Given the description of an element on the screen output the (x, y) to click on. 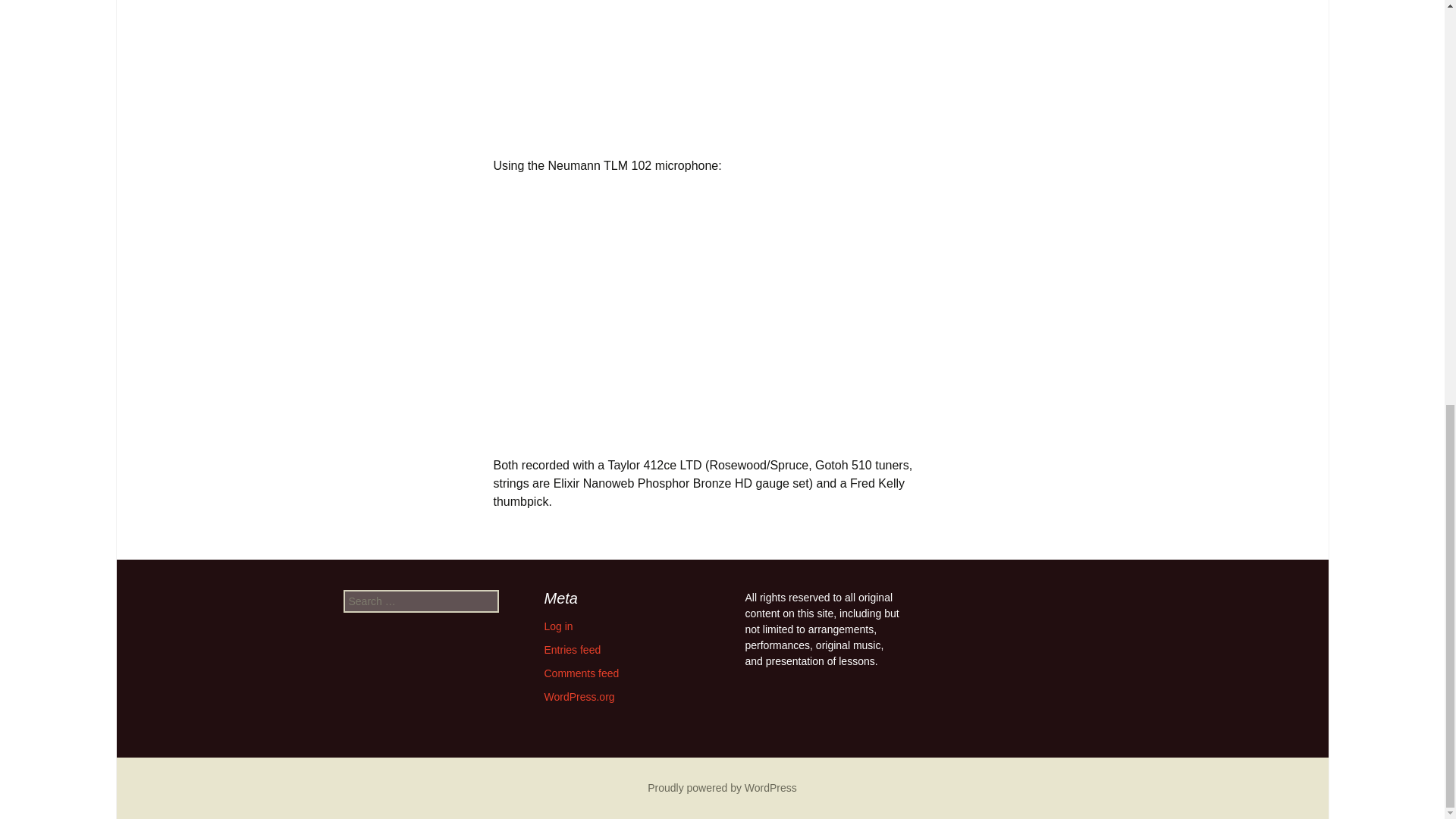
Banks of the Ohio - Neumann TLM 102 - Bluegrass Guitar (721, 304)
